Given the description of an element on the screen output the (x, y) to click on. 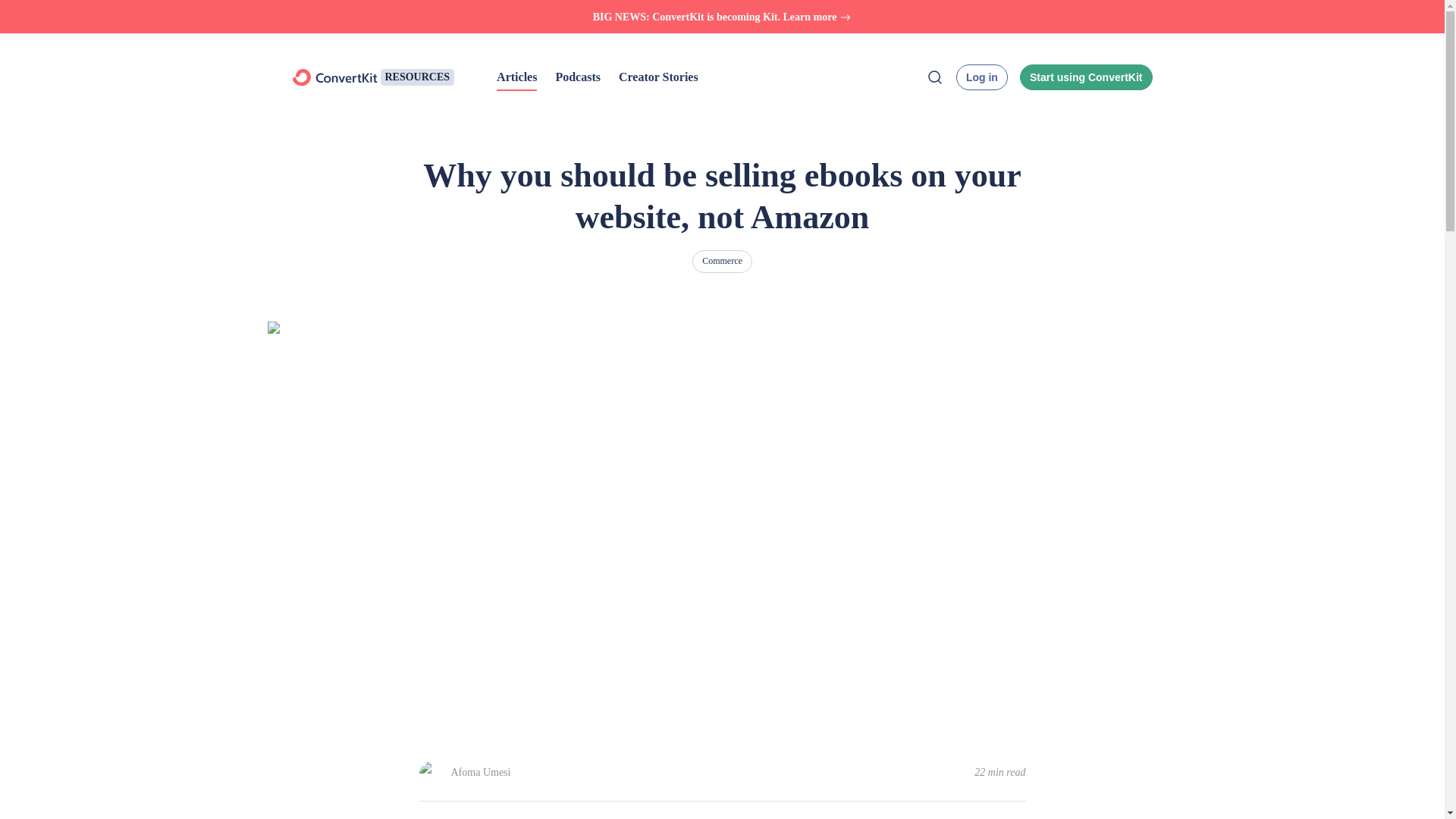
Log in (981, 77)
Afoma Umesi (480, 773)
Articles (516, 77)
RESOURCES (417, 76)
Start using ConvertKit (1086, 77)
Podcasts (576, 77)
Commerce (722, 261)
Creator Stories (658, 77)
